Given the description of an element on the screen output the (x, y) to click on. 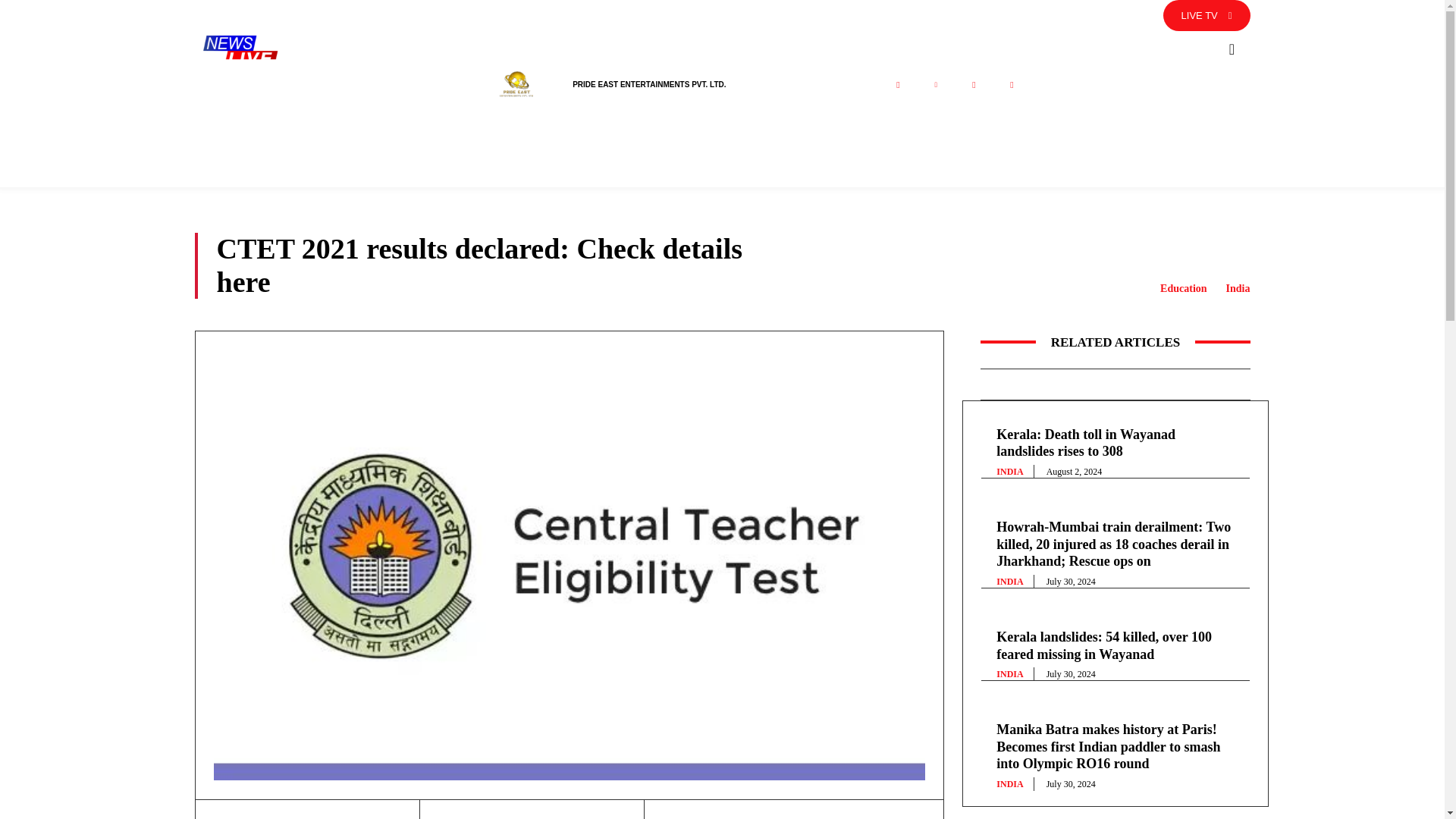
peepl-small (516, 85)
LIVE TV (1206, 15)
PRIDE EAST ENTERTAINMENTS PVT. LTD. (648, 84)
Facebook (897, 84)
Youtube (1010, 84)
news-live-logo (240, 50)
Twitter (935, 84)
Instagram (973, 84)
